Given the description of an element on the screen output the (x, y) to click on. 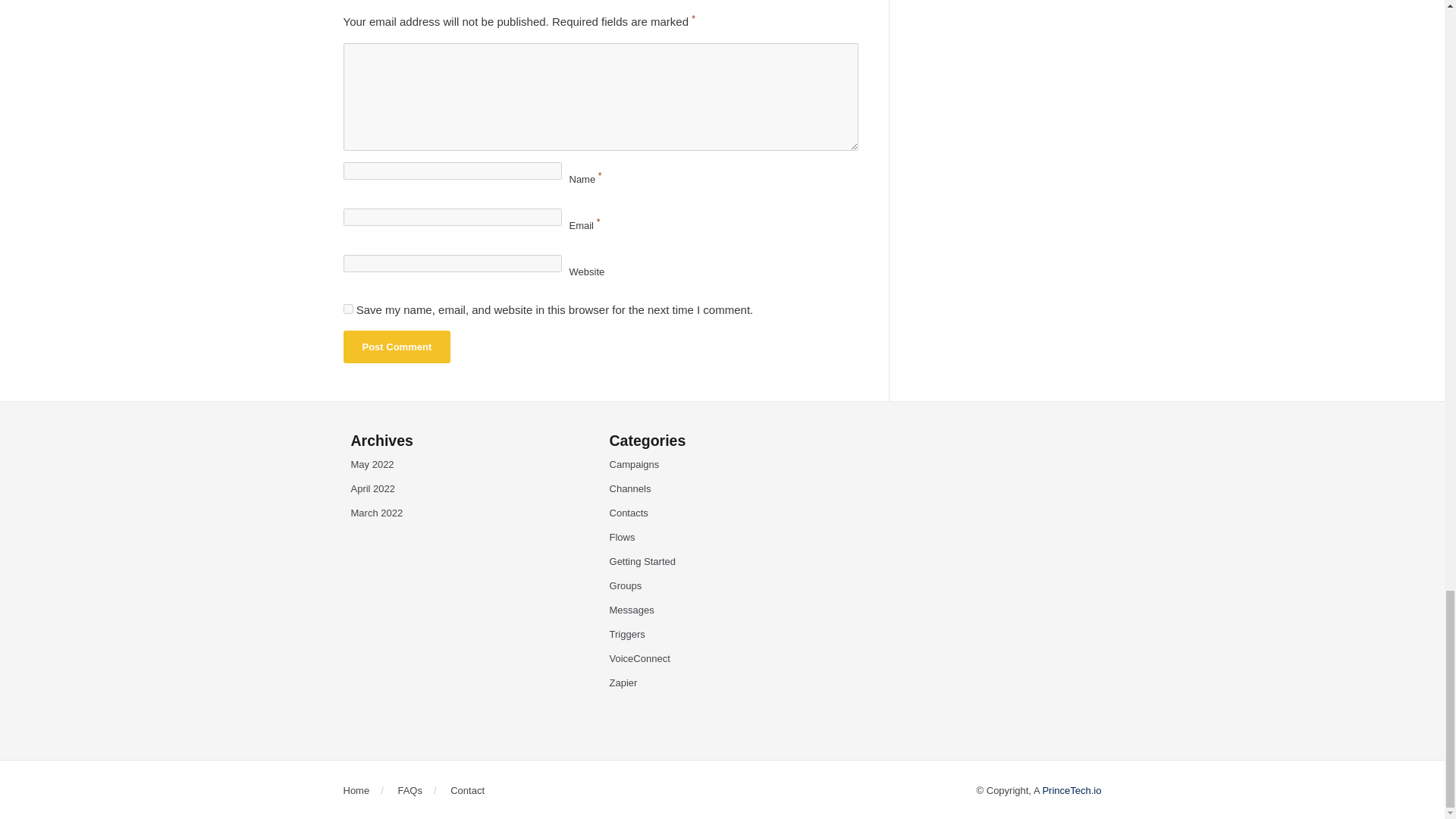
yes (347, 308)
Post Comment (395, 346)
Post Comment (395, 346)
